Given the description of an element on the screen output the (x, y) to click on. 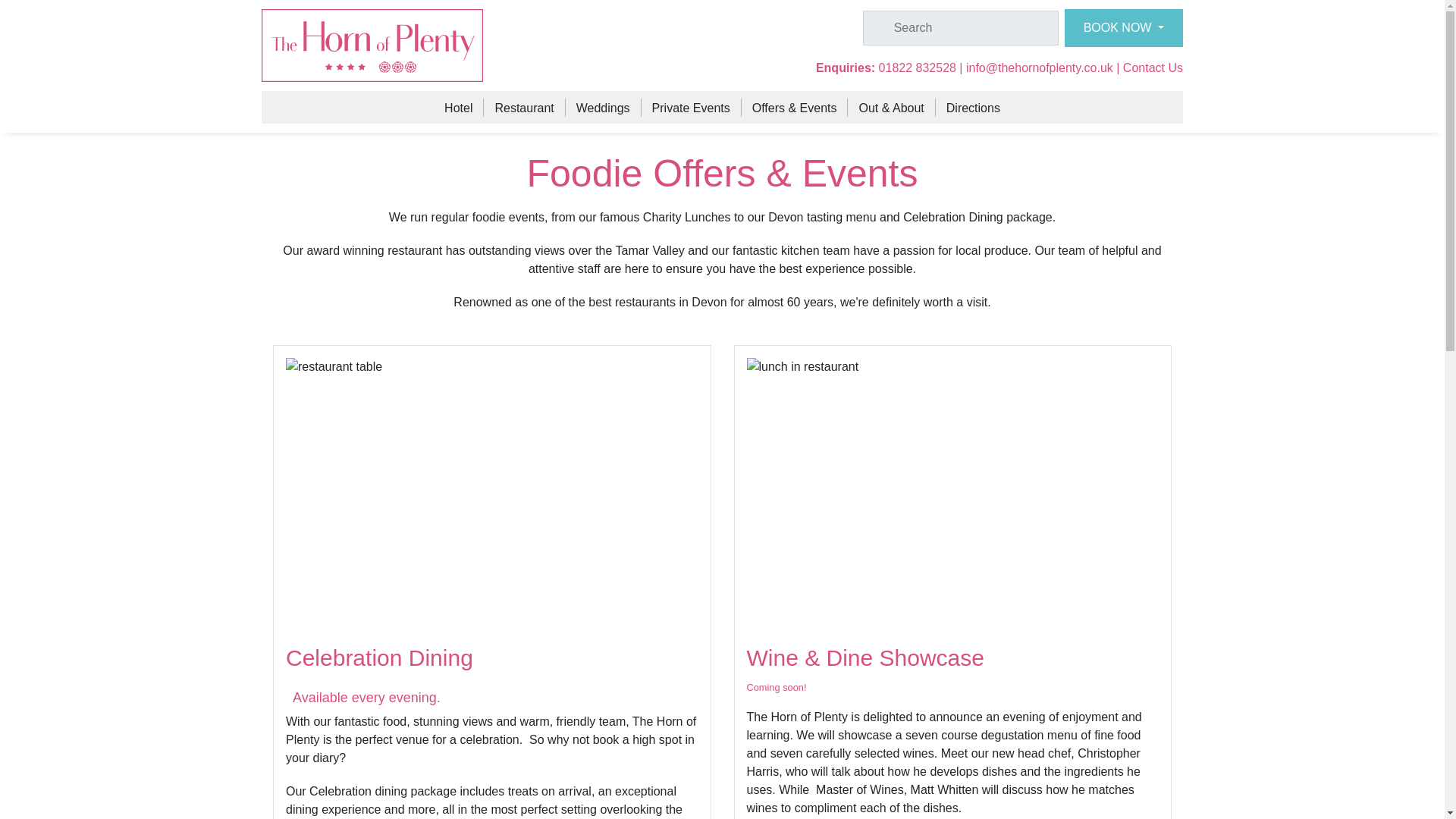
The Horn Of Plenty (372, 45)
